Given the description of an element on the screen output the (x, y) to click on. 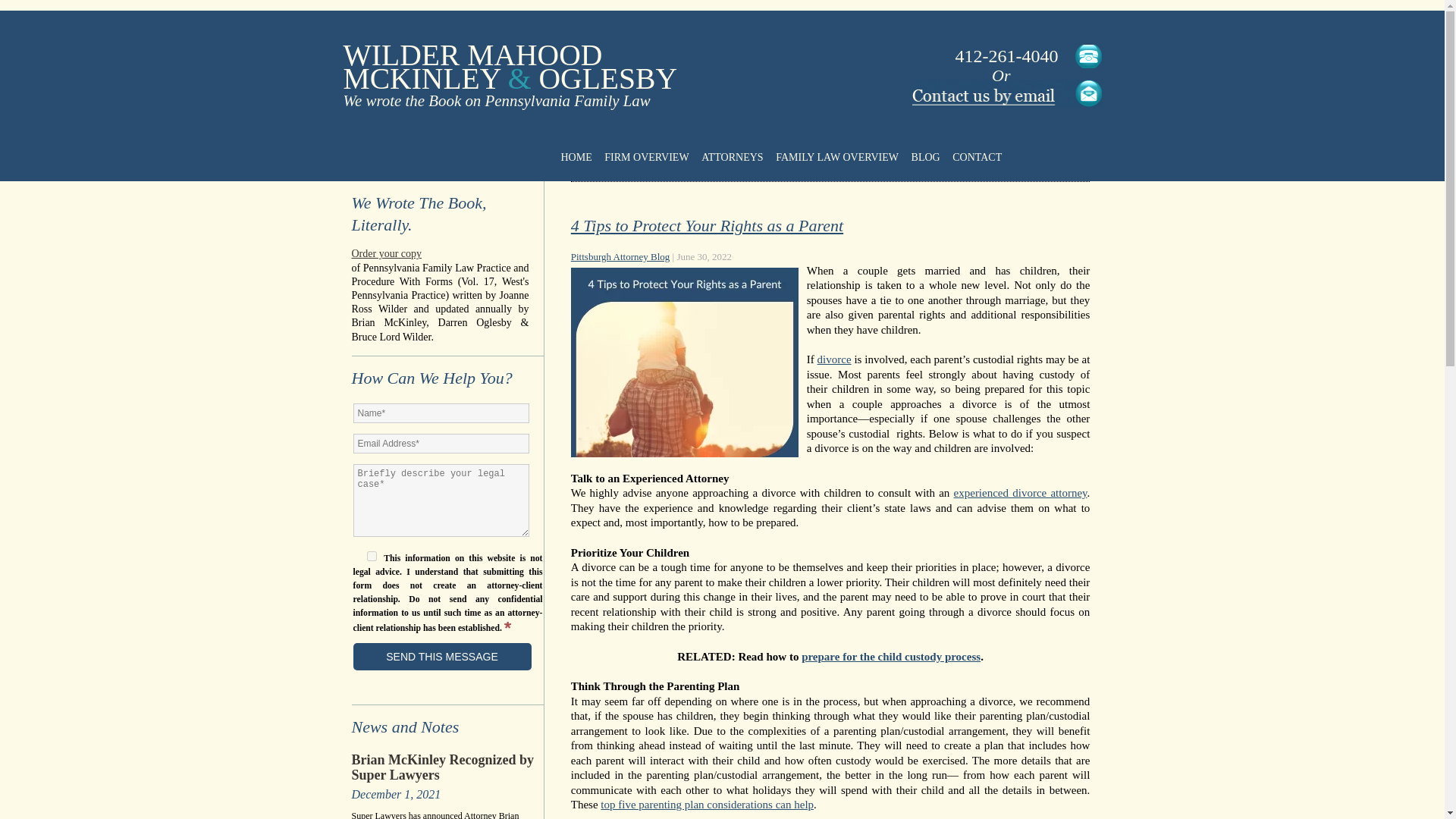
Send this message (442, 656)
ATTORNEYS (731, 157)
BLOG (924, 157)
experienced divorce attorney (1020, 492)
1 (371, 556)
4 Tips to Protect Your Rights as a Parent (706, 225)
Send this message (442, 656)
FAMILY LAW OVERVIEW (837, 157)
Posts by Pittsburgh Attorney Blog (619, 256)
FIRM OVERVIEW (646, 157)
HOME (575, 157)
4 Tips to Protect Your Rights as a Parent (706, 225)
CONTACT (977, 157)
Order your copy (440, 254)
